Given the description of an element on the screen output the (x, y) to click on. 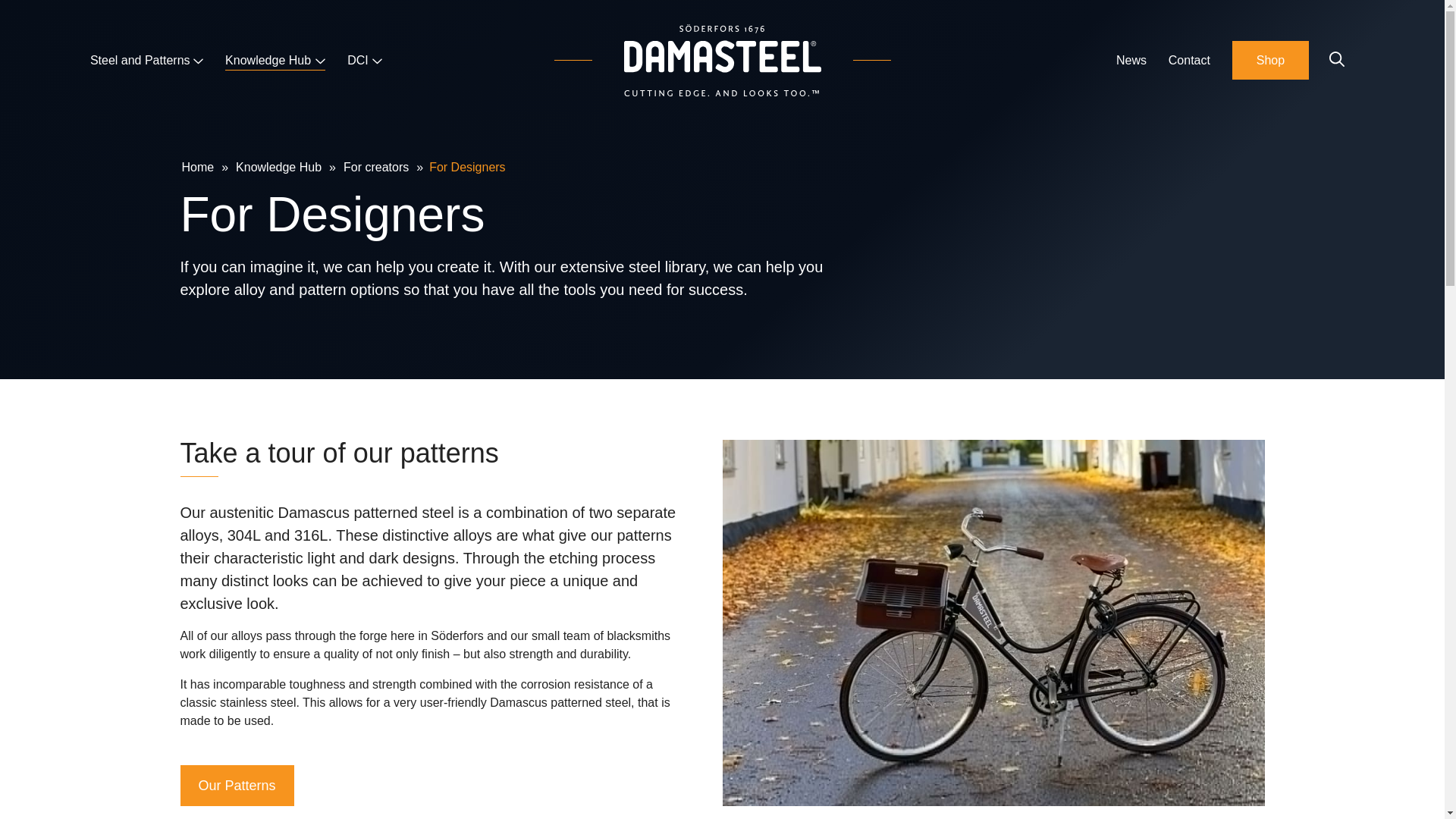
Contact (1189, 60)
DCI (364, 60)
News (1131, 60)
Shop (1269, 59)
Steel and Patterns (146, 60)
Knowledge Hub (274, 60)
